Given the description of an element on the screen output the (x, y) to click on. 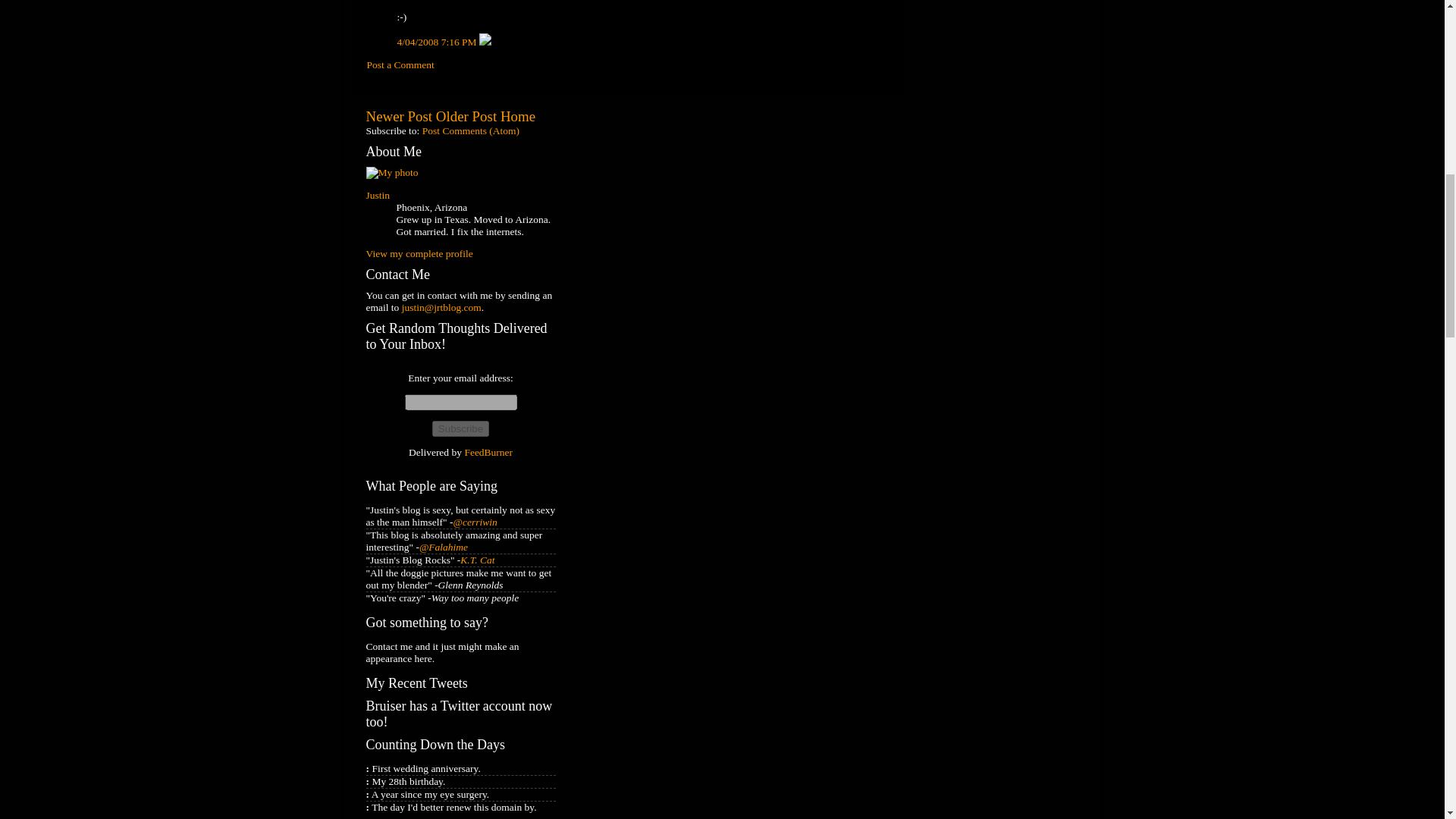
FeedBurner (488, 451)
comment permalink (438, 41)
Older Post (465, 116)
Post a Comment (399, 64)
Delete Comment (485, 41)
Home (517, 116)
View my complete profile (418, 253)
Newer Post (398, 116)
K.T. Cat (477, 559)
Subscribe (460, 428)
Justin (377, 194)
Older Post (465, 116)
Newer Post (398, 116)
Subscribe (460, 428)
